Given the description of an element on the screen output the (x, y) to click on. 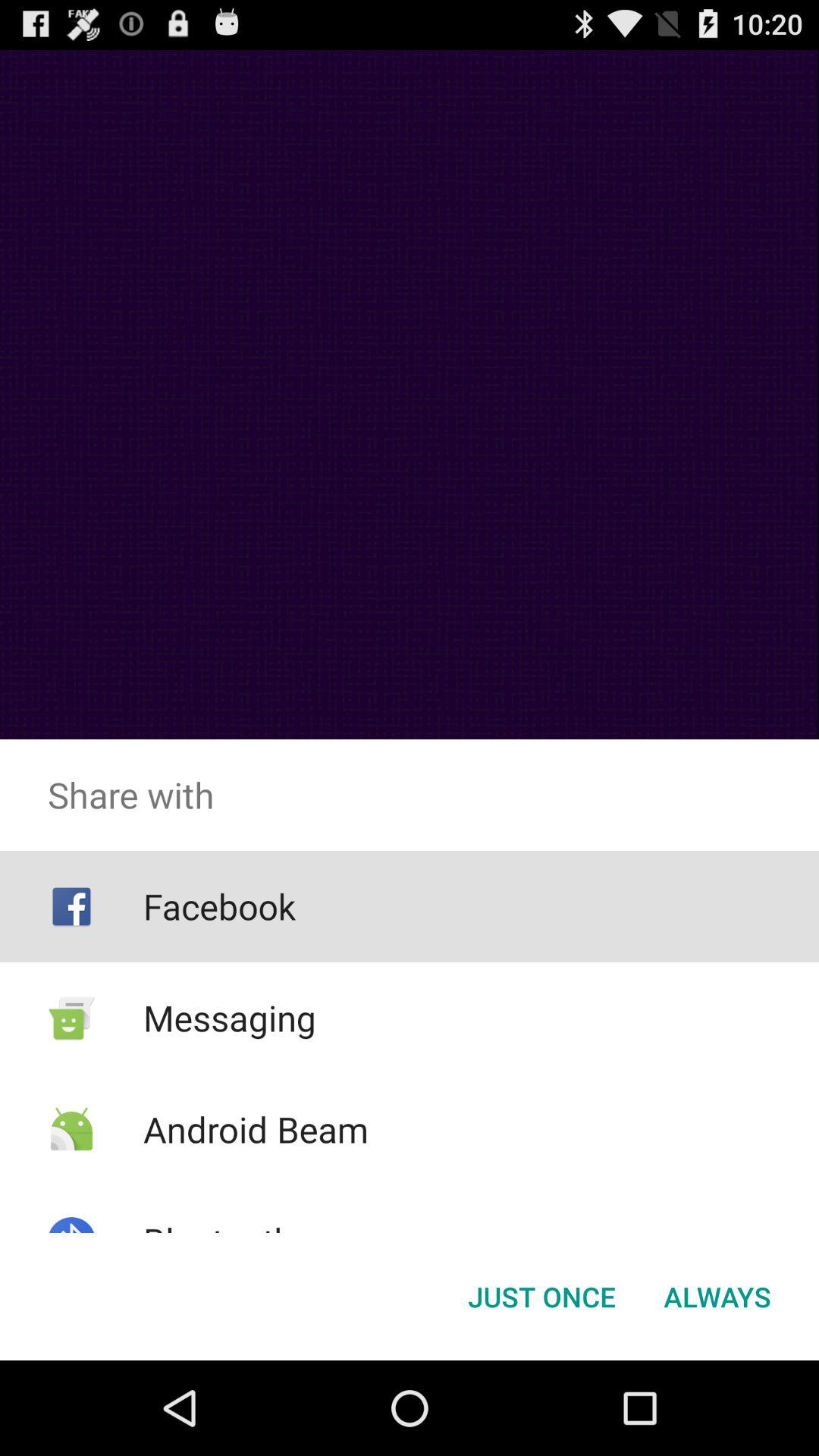
turn off the icon below the share with (717, 1296)
